Given the description of an element on the screen output the (x, y) to click on. 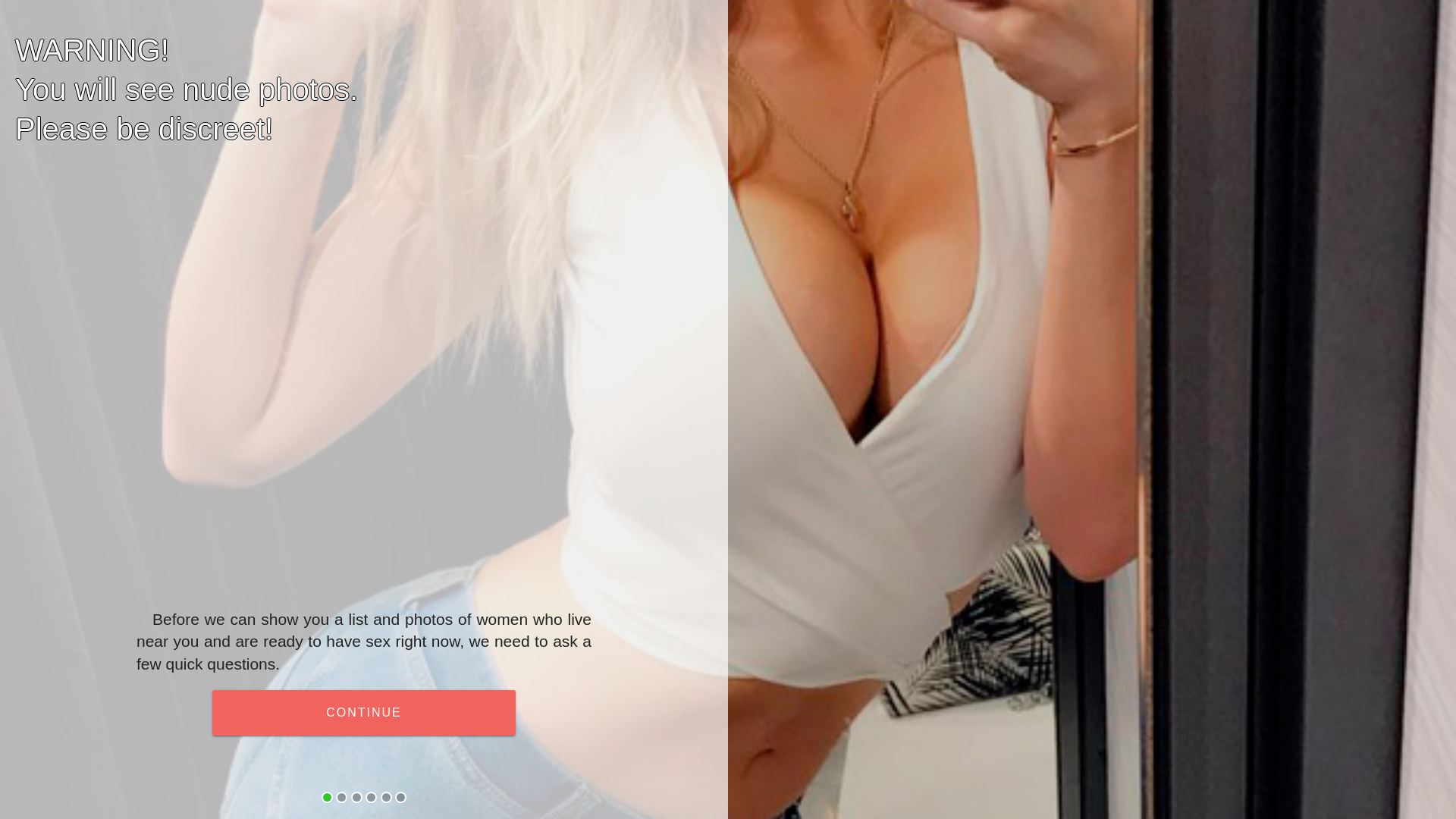
CONTINUE Element type: text (363, 712)
